Given the description of an element on the screen output the (x, y) to click on. 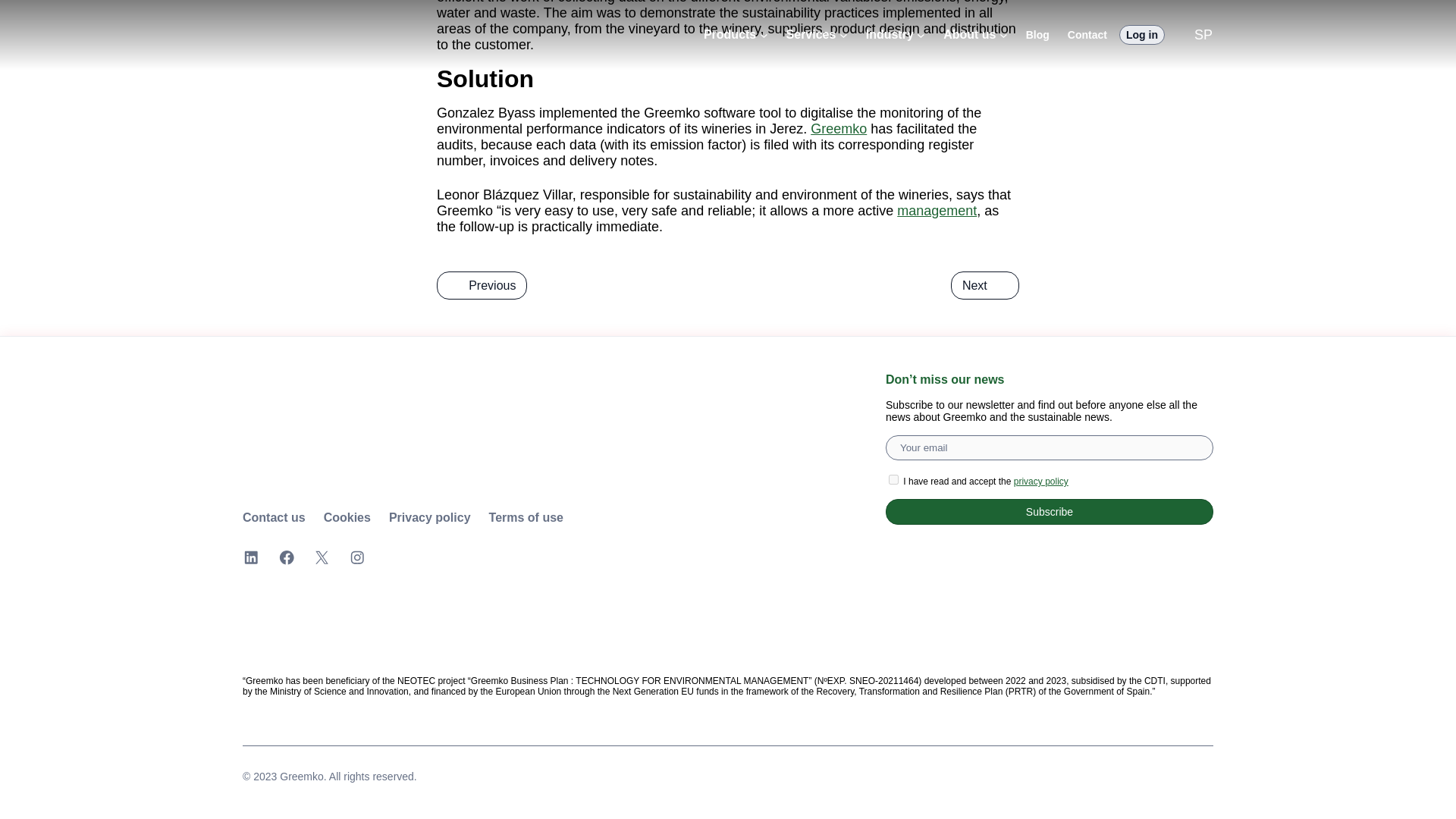
1 (893, 479)
Subscribe (1048, 511)
